Given the description of an element on the screen output the (x, y) to click on. 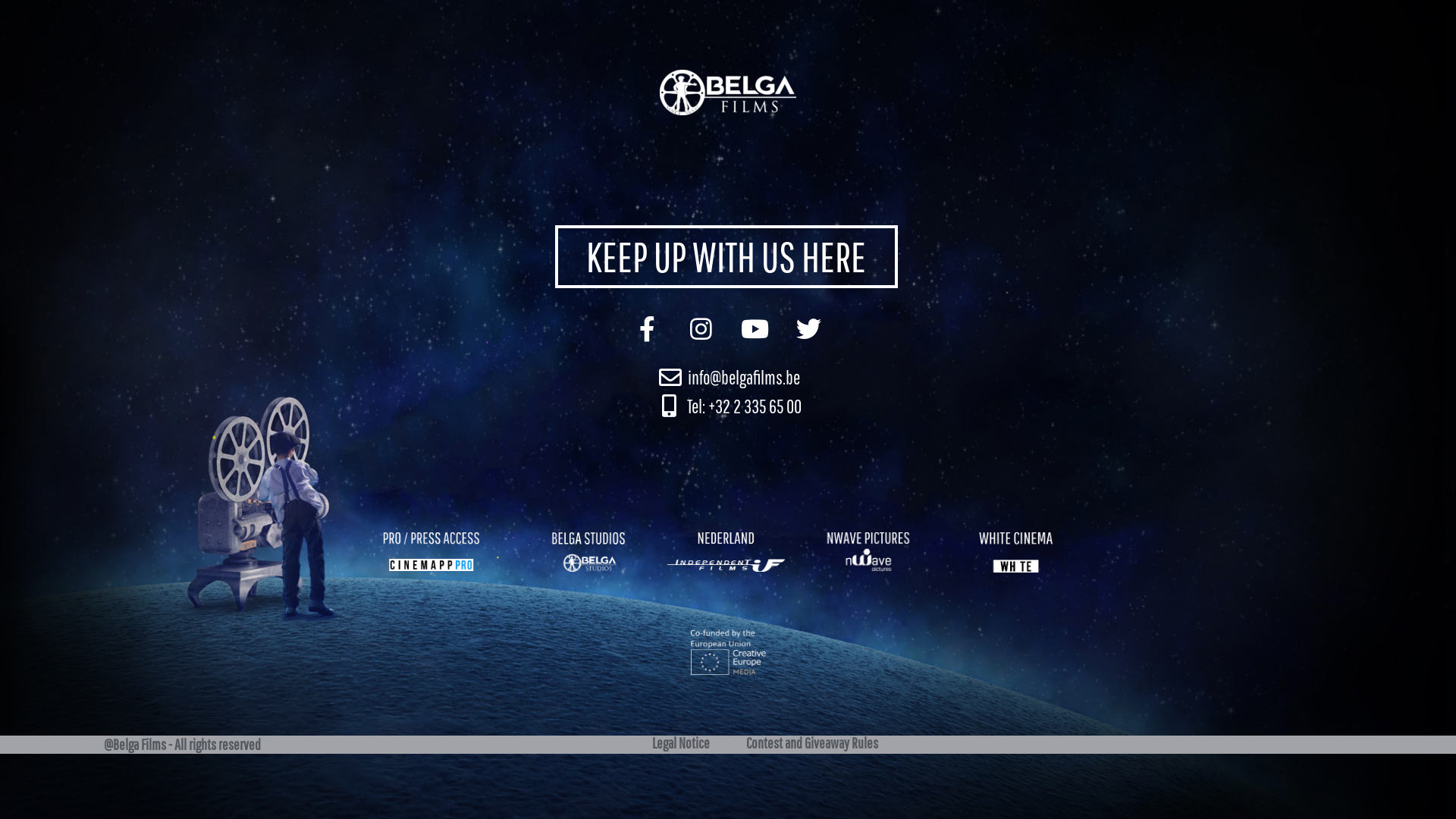
info@belgafilms.be Element type: text (727, 377)
Legal Notice Element type: text (690, 742)
Contest and Giveaway Rules Element type: text (803, 742)
